Given the description of an element on the screen output the (x, y) to click on. 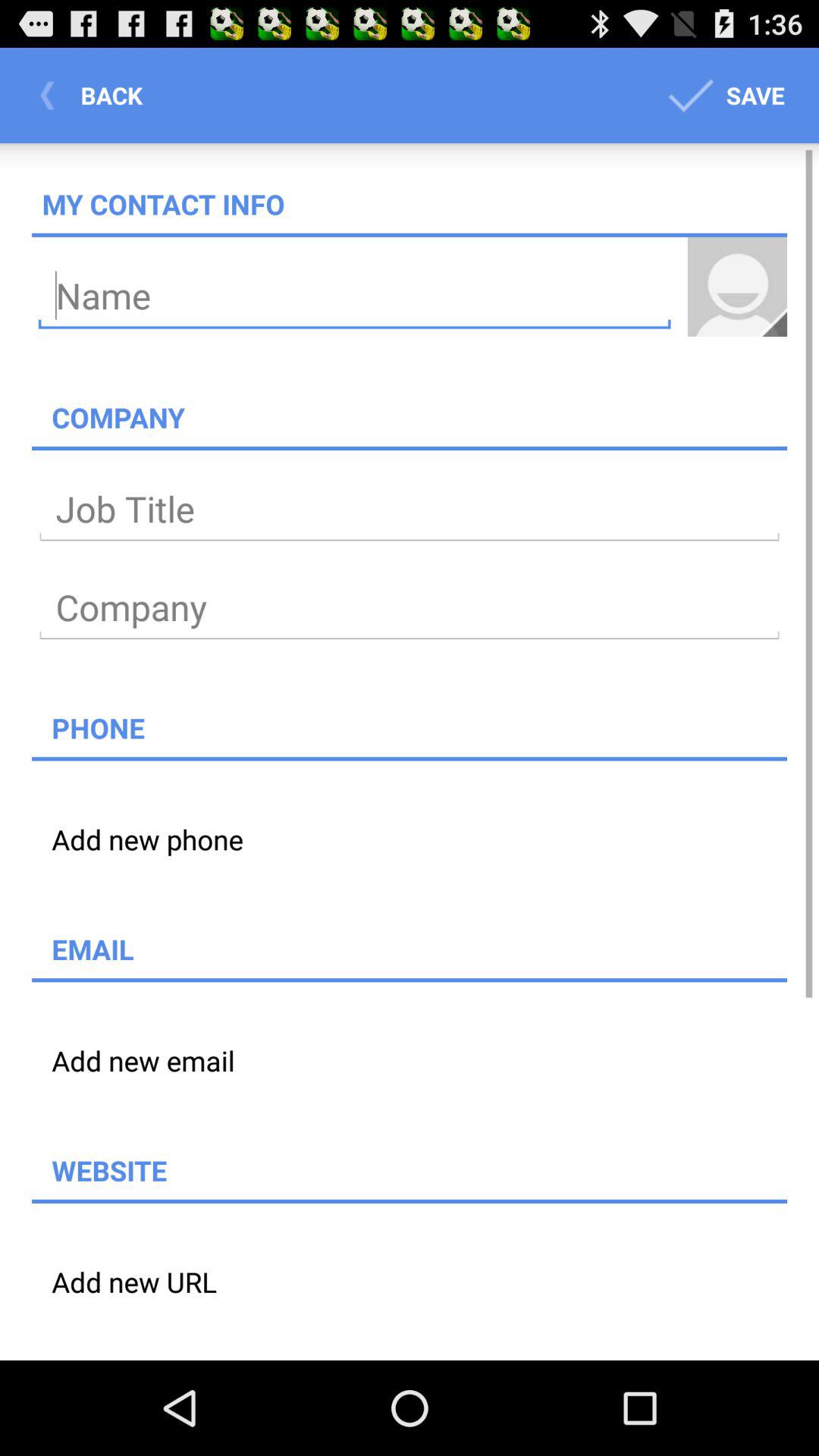
add profile picture (737, 286)
